Given the description of an element on the screen output the (x, y) to click on. 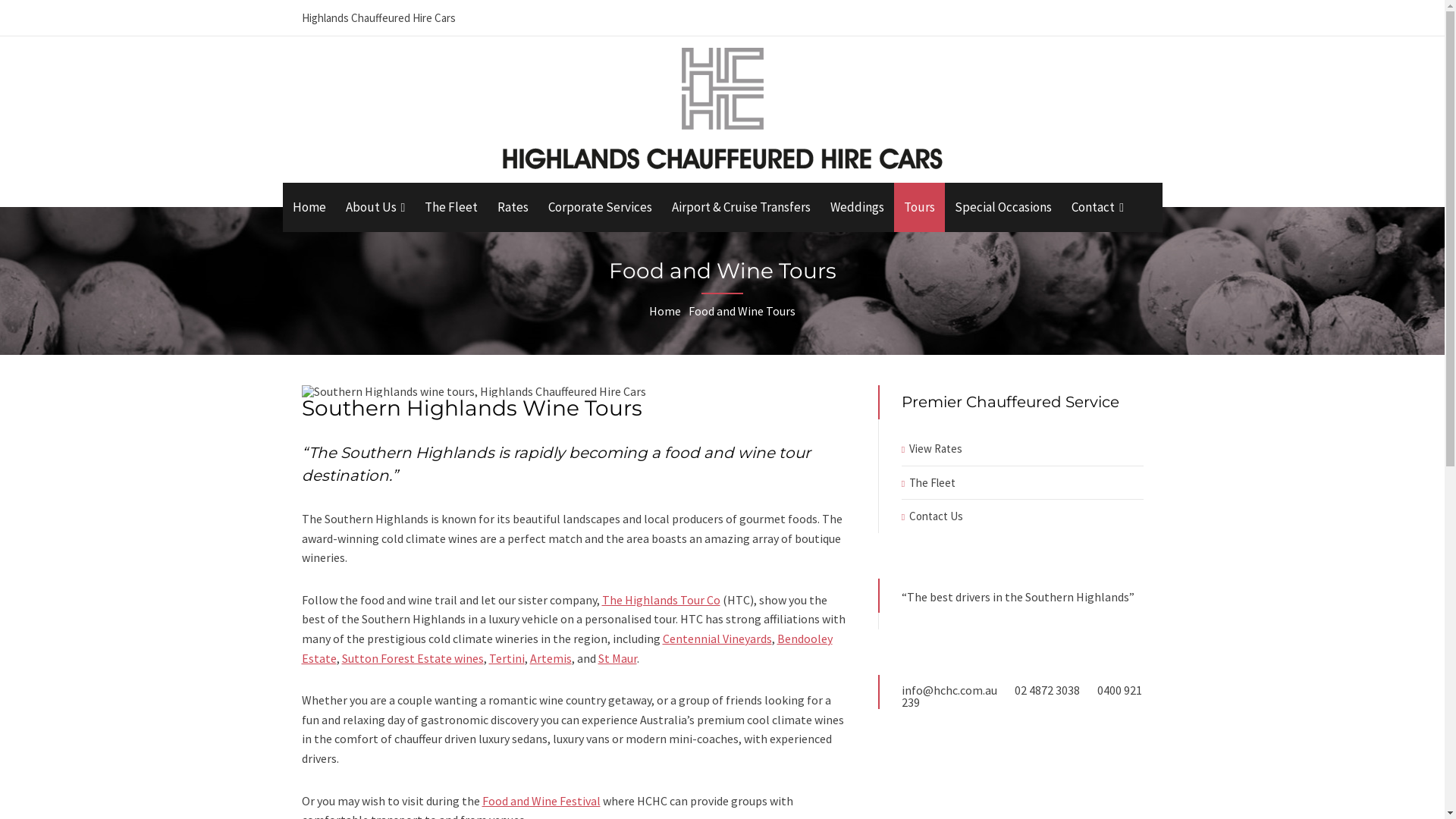
Contact Us Element type: text (936, 515)
Food and Wine Festival Element type: text (541, 800)
Home Element type: text (664, 310)
Corporate Services Element type: text (600, 207)
Contact Element type: text (1097, 207)
Tertini Element type: text (506, 657)
Bendooley Estate Element type: text (566, 647)
About Us Element type: text (374, 207)
St Maur Element type: text (616, 657)
Artemis Element type: text (550, 657)
info@hchc.com.au Element type: text (949, 689)
Food and Wine tours in The Southern Highlands Element type: hover (473, 391)
0400 921 239 Element type: text (1021, 695)
View Rates Element type: text (935, 448)
Weddings Element type: text (857, 207)
02 4872 3038 Element type: text (1046, 689)
Centennial Vineyards Element type: text (716, 638)
Rates Element type: text (512, 207)
Tours Element type: text (919, 207)
The Fleet Element type: text (450, 207)
Airport & Cruise Transfers Element type: text (741, 207)
Special Occasions Element type: text (1002, 207)
The Fleet Element type: text (932, 481)
The Highlands Tour Co Element type: text (661, 599)
Home Element type: text (308, 207)
Sutton Forest Estate wines Element type: text (412, 657)
